Given the description of an element on the screen output the (x, y) to click on. 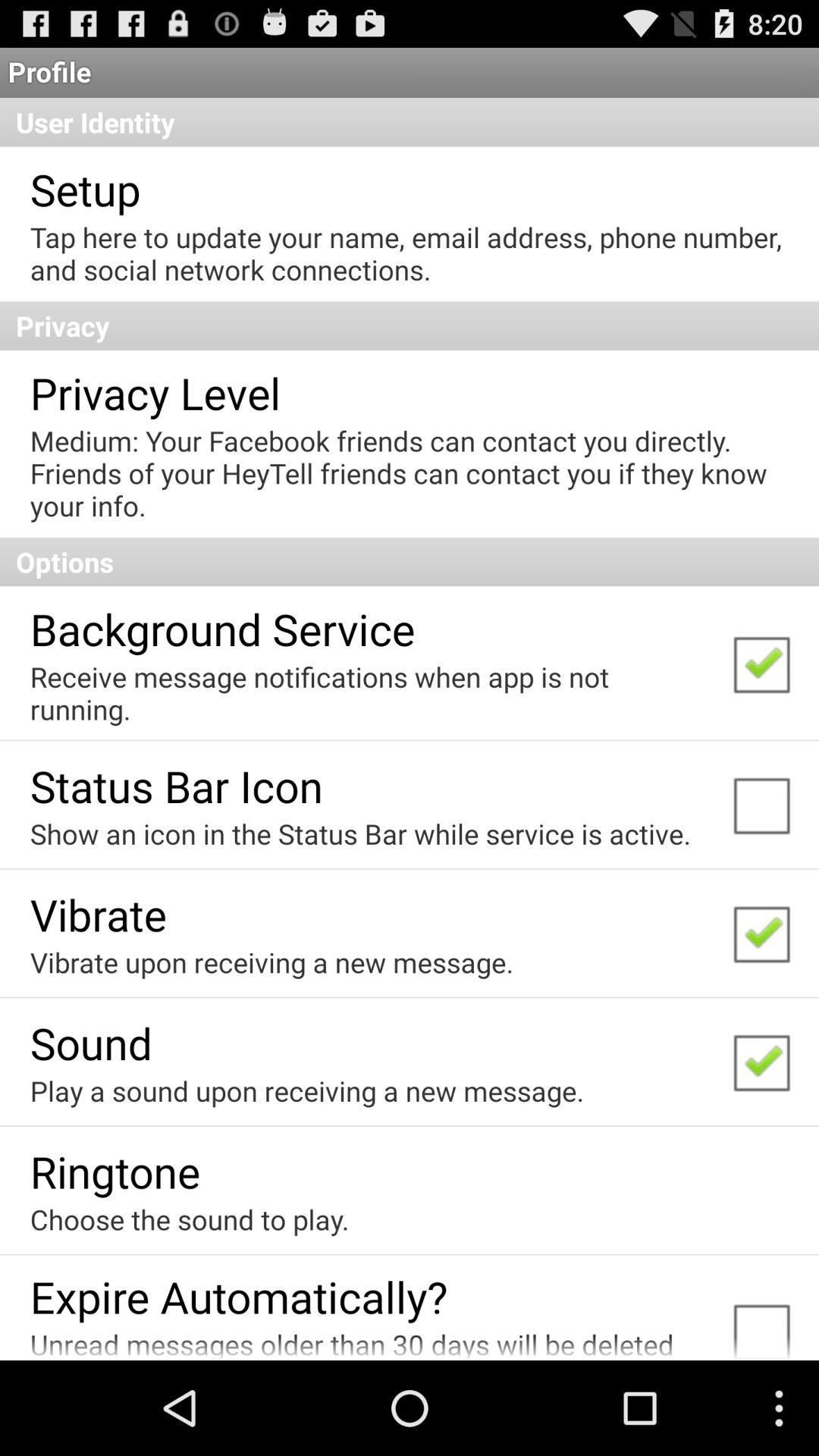
swipe until the choose the sound app (189, 1219)
